Given the description of an element on the screen output the (x, y) to click on. 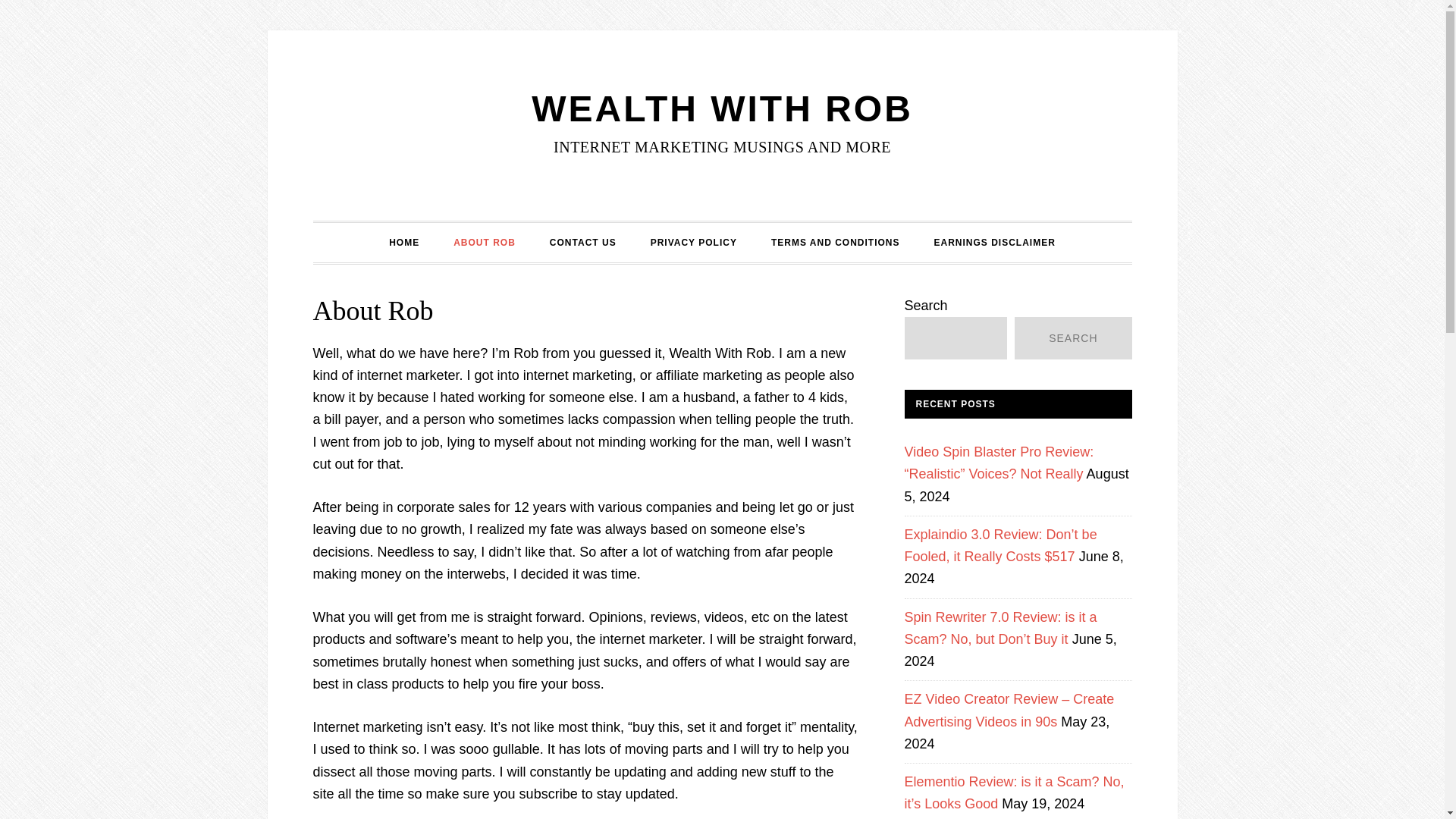
PRIVACY POLICY (693, 242)
WEALTH WITH ROB (721, 108)
ABOUT ROB (484, 242)
TERMS AND CONDITIONS (835, 242)
SEARCH (1072, 337)
CONTACT US (582, 242)
HOME (403, 242)
EARNINGS DISCLAIMER (994, 242)
